Given the description of an element on the screen output the (x, y) to click on. 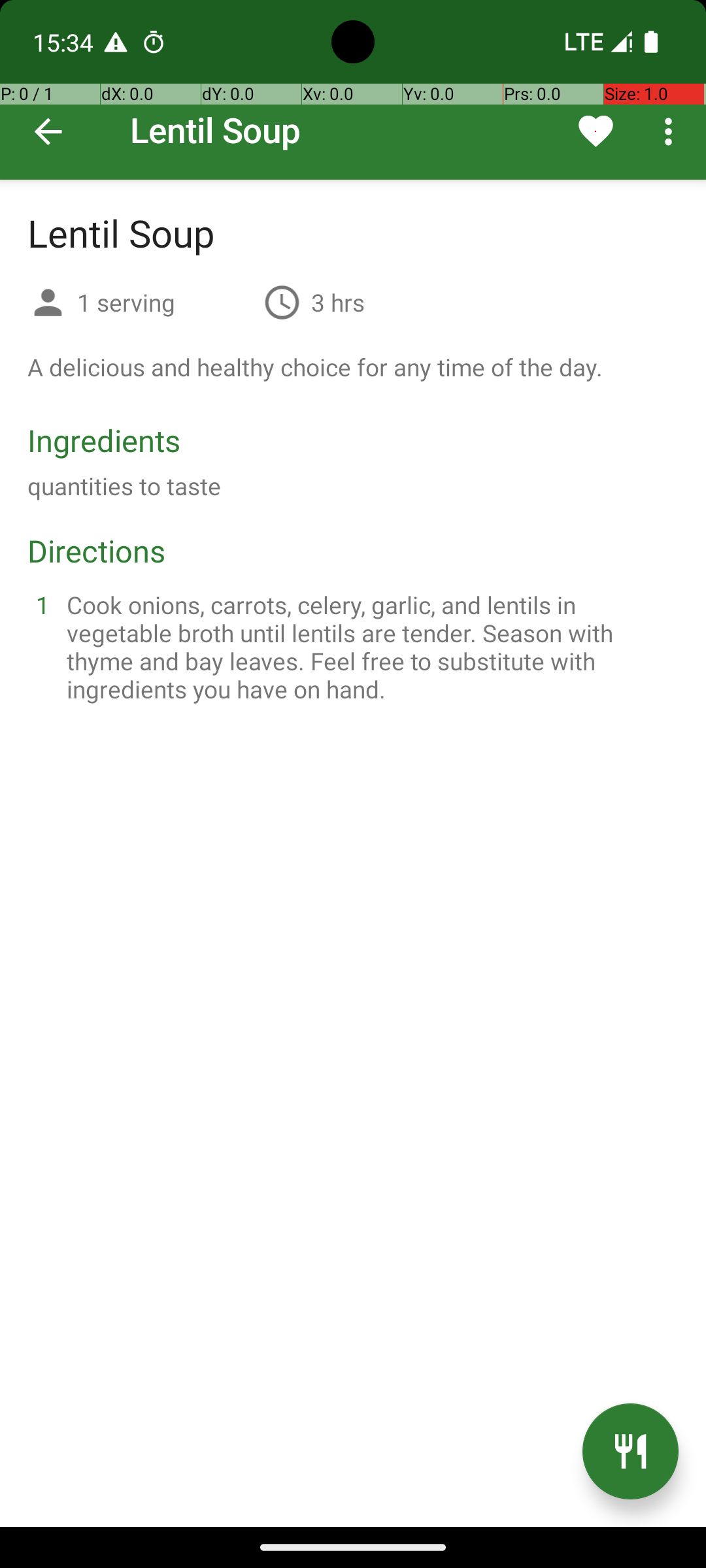
Lentil Soup Element type: android.widget.FrameLayout (353, 89)
quantities to taste Element type: android.widget.TextView (123, 485)
Cook onions, carrots, celery, garlic, and lentils in vegetable broth until lentils are tender. Season with thyme and bay leaves. Feel free to substitute with ingredients you have on hand. Element type: android.widget.TextView (368, 646)
